Given the description of an element on the screen output the (x, y) to click on. 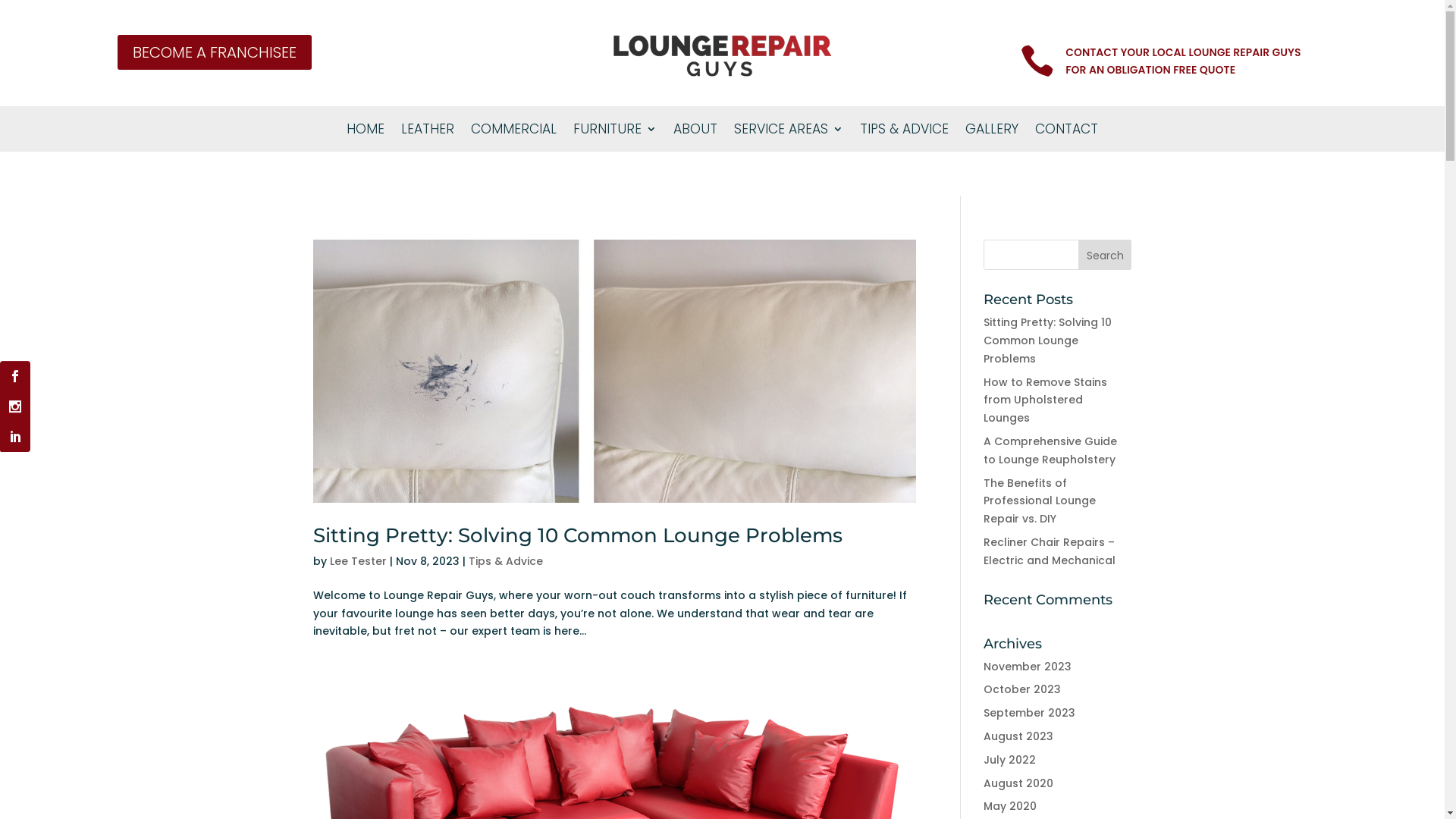
September 2023 Element type: text (1029, 712)
ABOUT Element type: text (695, 131)
August 2020 Element type: text (1018, 782)
LRG_logo Element type: hover (721, 55)
October 2023 Element type: text (1021, 688)
August 2023 Element type: text (1018, 735)
LEATHER Element type: text (427, 131)
GALLERY Element type: text (991, 131)
HOME Element type: text (365, 131)
How to Remove Stains from Upholstered Lounges Element type: text (1045, 400)
July 2022 Element type: text (1009, 759)
Tips & Advice Element type: text (505, 560)
Sitting Pretty: Solving 10 Common Lounge Problems Element type: text (1047, 340)
Sitting Pretty: Solving 10 Common Lounge Problems Element type: text (576, 535)
FURNITURE Element type: text (614, 131)
May 2020 Element type: text (1009, 805)
The Benefits of Professional Lounge Repair vs. DIY Element type: text (1039, 501)
SERVICE AREAS Element type: text (788, 131)
COMMERCIAL Element type: text (513, 131)
A Comprehensive Guide to Lounge Reupholstery Element type: text (1050, 450)
BECOME A FRANCHISEE Element type: text (214, 51)
TIPS & ADVICE Element type: text (903, 131)
November 2023 Element type: text (1027, 666)
Lee Tester Element type: text (357, 560)
CONTACT Element type: text (1066, 131)
Search Element type: text (1105, 254)
Contact Lounge Repair Guys Element type: hover (1160, 59)
